Given the description of an element on the screen output the (x, y) to click on. 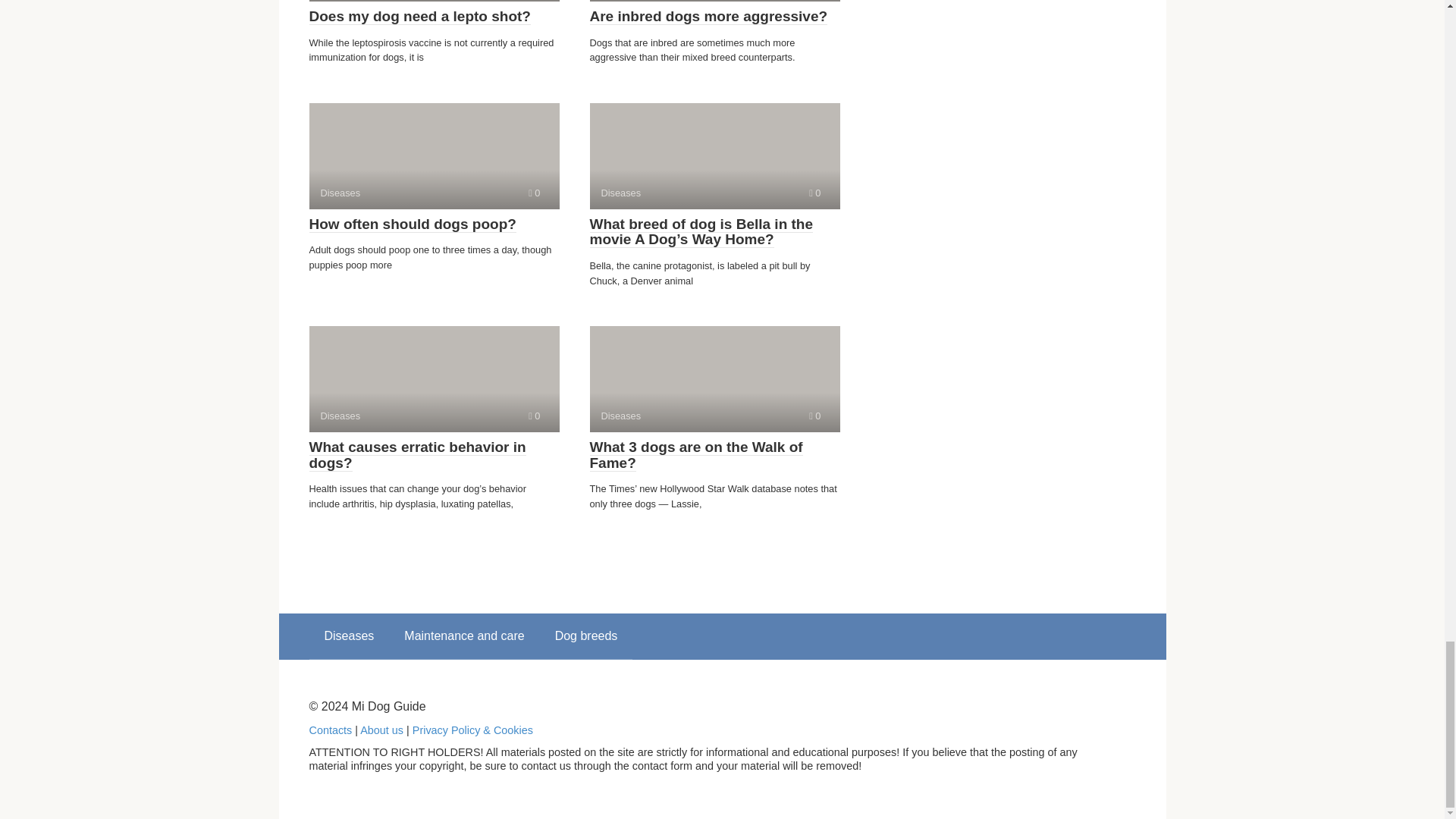
Does my dog need a lepto shot? (419, 16)
Comments (534, 193)
How often should dogs poop? (412, 224)
Are inbred dogs more aggressive? (708, 16)
What causes erratic behavior in dogs? (433, 378)
Comments (714, 156)
Comments (433, 156)
What 3 dogs are on the Walk of Fame? (416, 454)
